Given the description of an element on the screen output the (x, y) to click on. 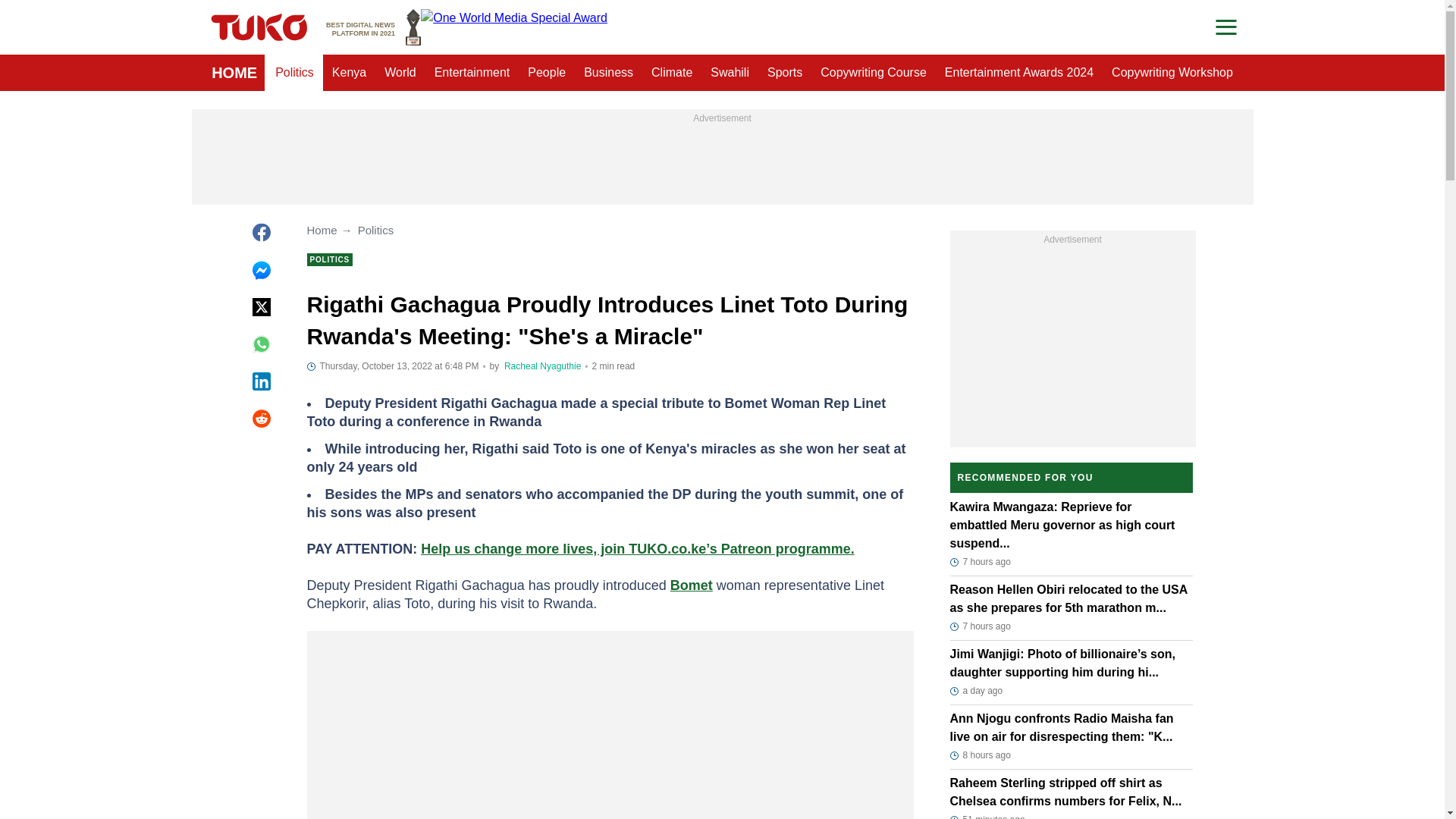
Author page (541, 366)
Sports (784, 72)
Copywriting Course (873, 72)
Kenya (349, 72)
Climate (373, 27)
Entertainment Awards 2024 (671, 72)
HOME (1019, 72)
Business (234, 72)
Swahili (608, 72)
